Given the description of an element on the screen output the (x, y) to click on. 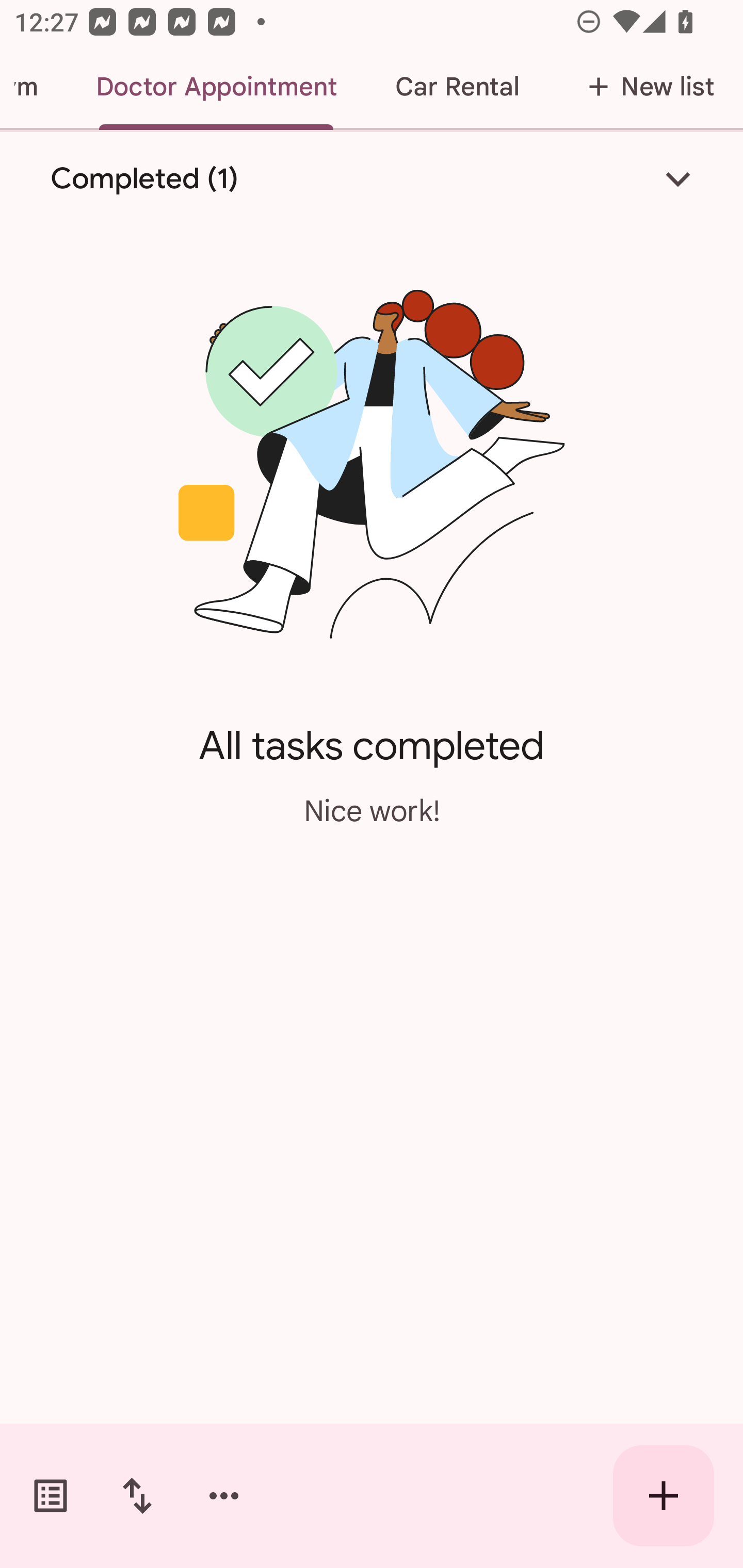
Gym (33, 86)
Car Rental (456, 86)
New list (645, 86)
Completed (1) (371, 178)
Switch task lists (50, 1495)
Create new task (663, 1495)
Change sort order (136, 1495)
More options (223, 1495)
